Given the description of an element on the screen output the (x, y) to click on. 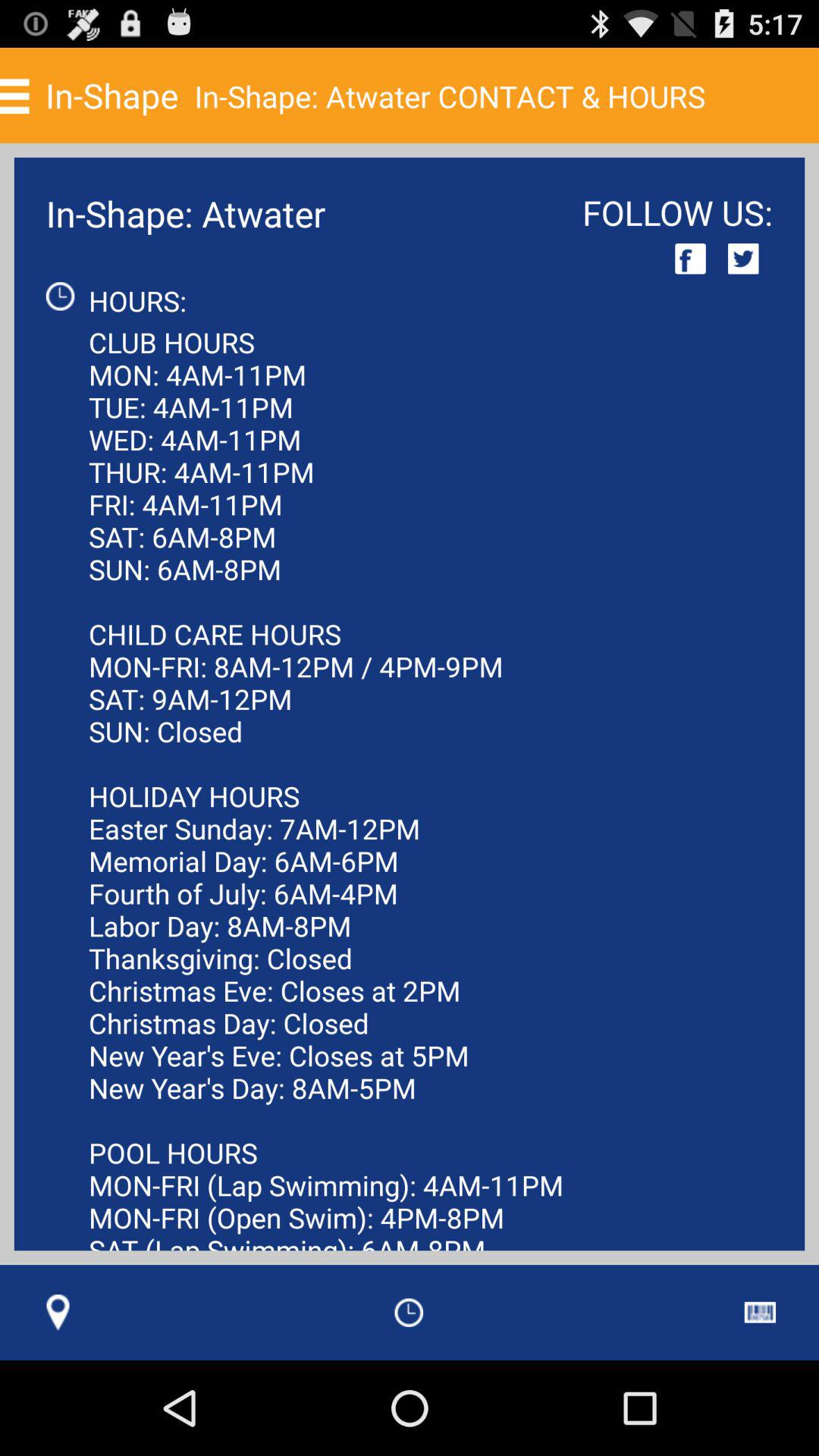
turn on the app below the club hours mon app (408, 1312)
